Given the description of an element on the screen output the (x, y) to click on. 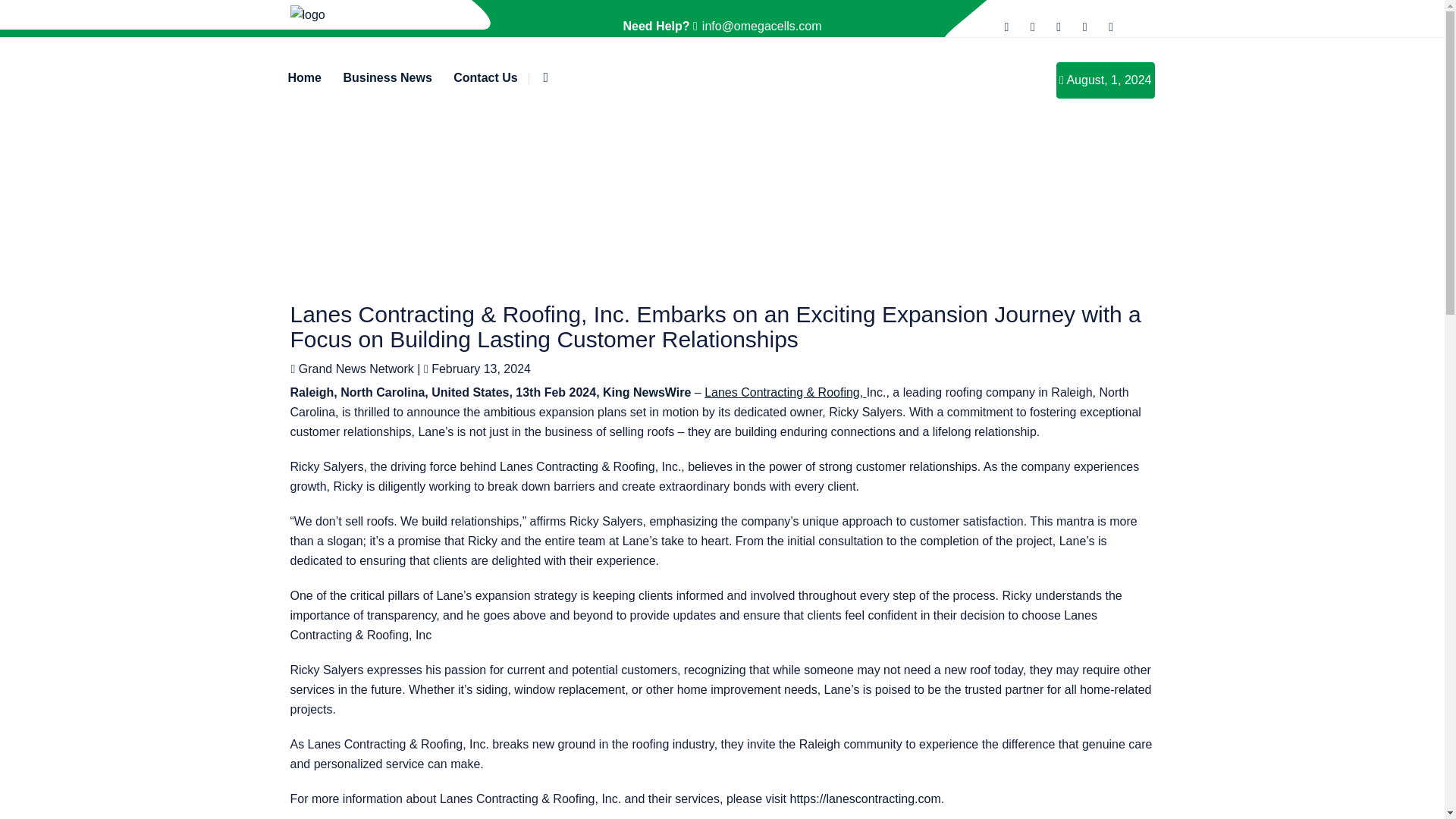
tickers TradingView widget (722, 210)
Business News (387, 77)
Contact Us (484, 77)
King NewsWire (646, 391)
